Given the description of an element on the screen output the (x, y) to click on. 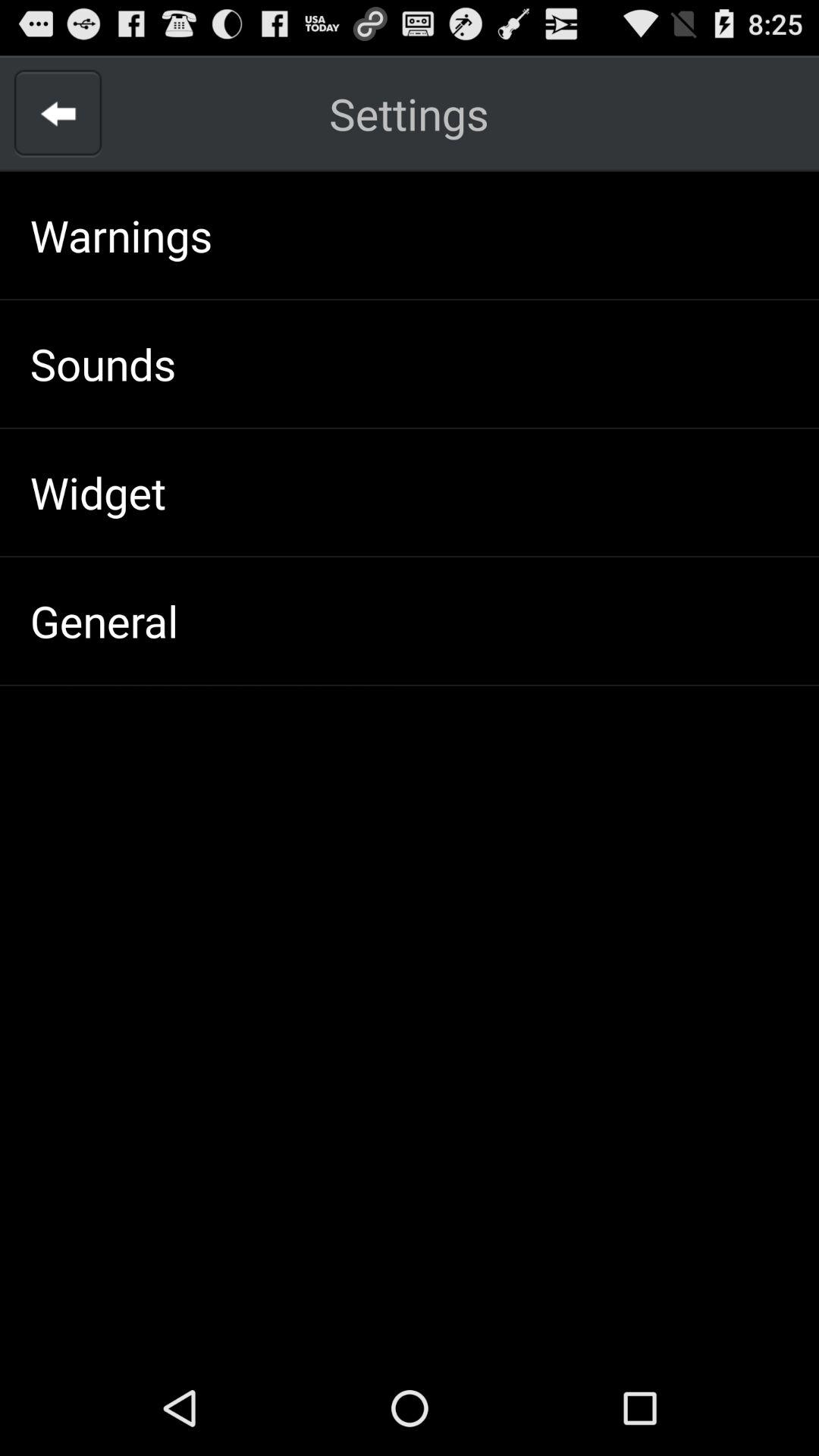
flip to widget item (98, 491)
